Given the description of an element on the screen output the (x, y) to click on. 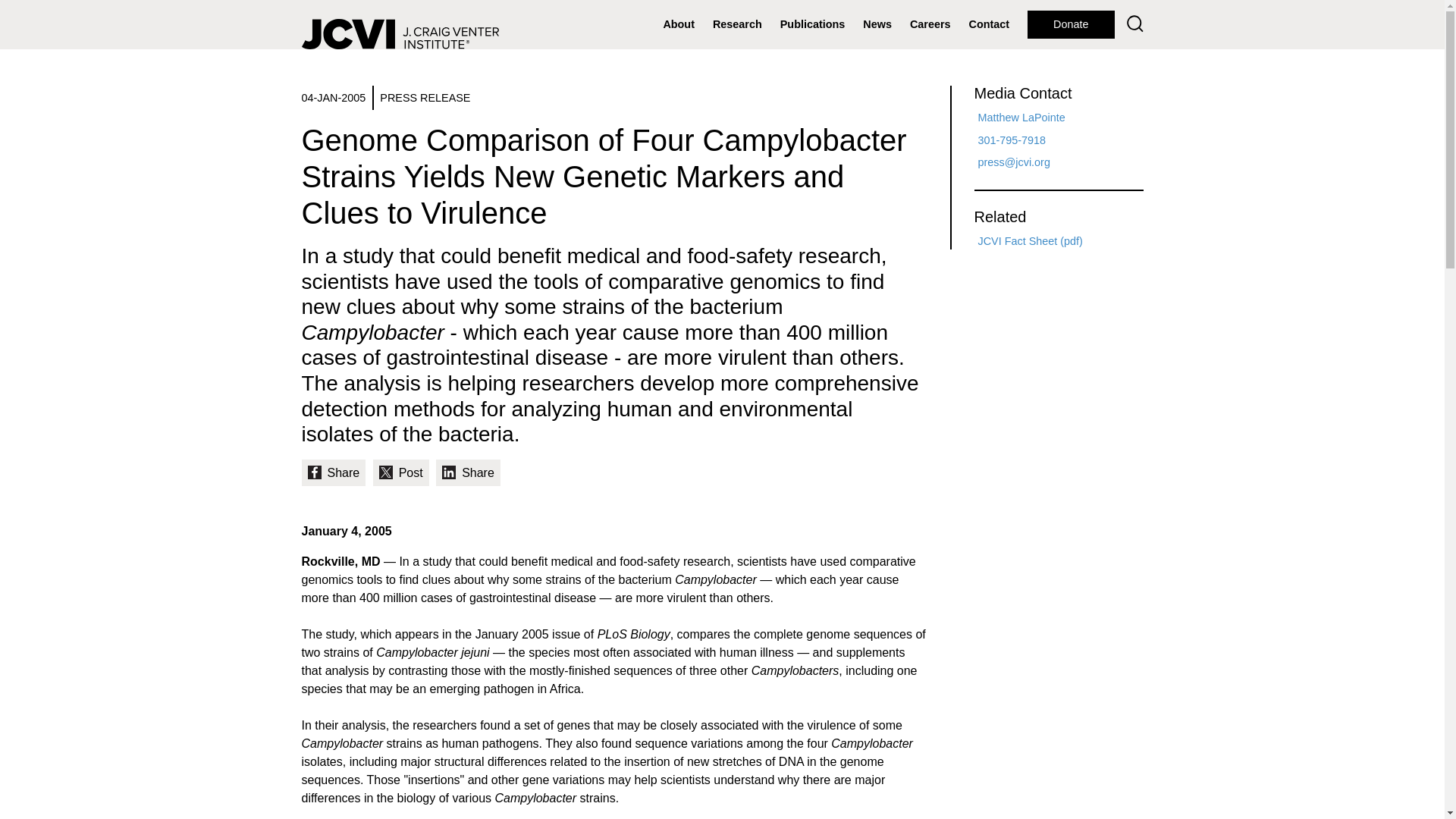
301-795-7918 (1012, 140)
Contact (989, 24)
Donate (1070, 24)
About (678, 24)
Research (737, 24)
News (877, 24)
Publications (812, 24)
Careers (930, 24)
Matthew LaPointe (1021, 117)
